Given the description of an element on the screen output the (x, y) to click on. 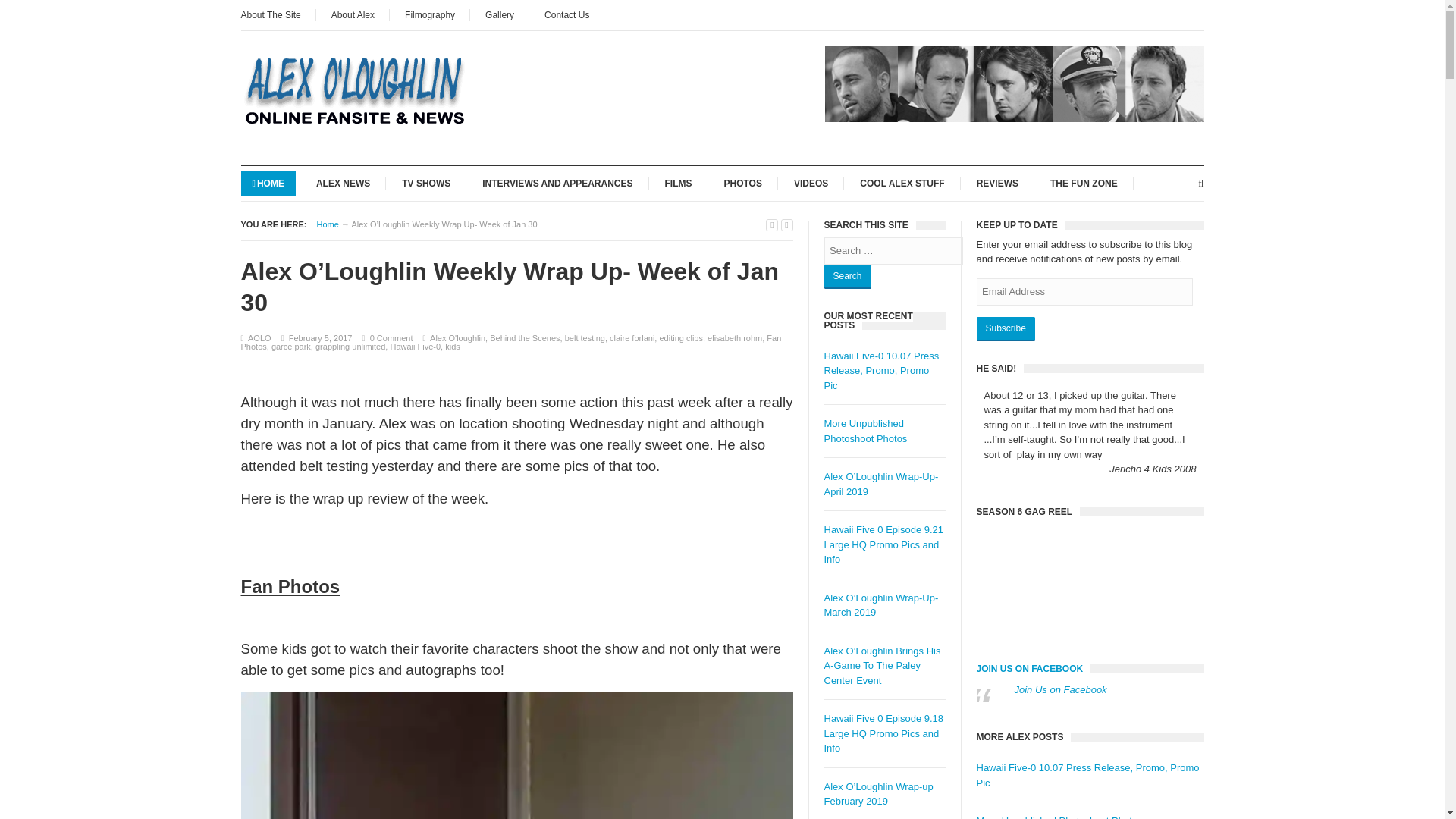
TV SHOWS (425, 182)
claire forlani (631, 338)
Filmography (430, 15)
garce park (290, 346)
Home (328, 224)
Fan Photos (511, 342)
AOLO (258, 338)
grappling unlimited (350, 346)
COOL ALEX STUFF (901, 182)
About Alex (352, 15)
belt testing (584, 338)
VIDEOS (811, 182)
Contact Us (566, 15)
FILMS (678, 182)
THE FUN ZONE (1084, 182)
